Given the description of an element on the screen output the (x, y) to click on. 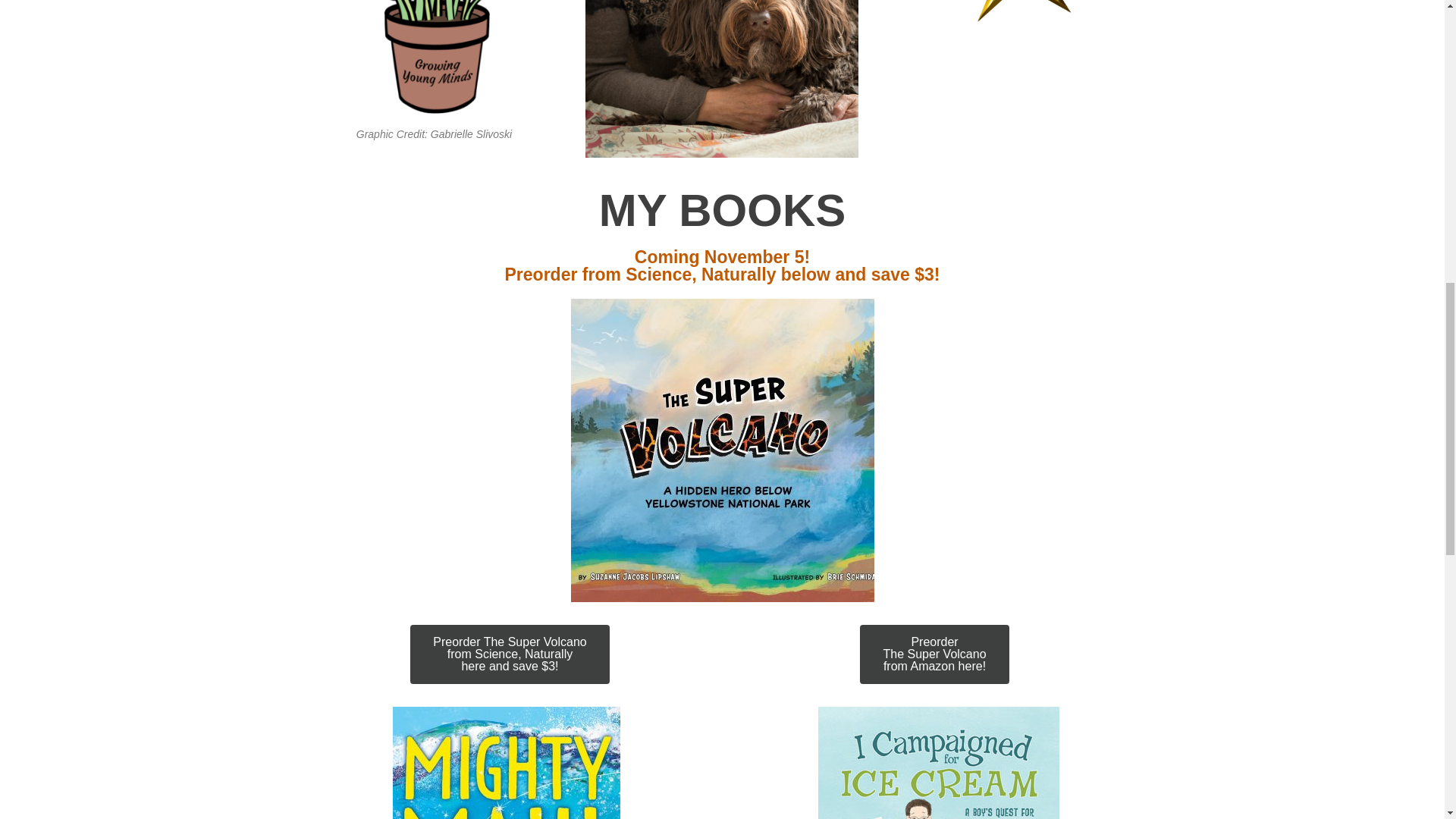
Super.Volcano.Cover.Test2.indd (934, 653)
Mighty-Mahi-Cover-Hi-Res-1 (721, 449)
